Given the description of an element on the screen output the (x, y) to click on. 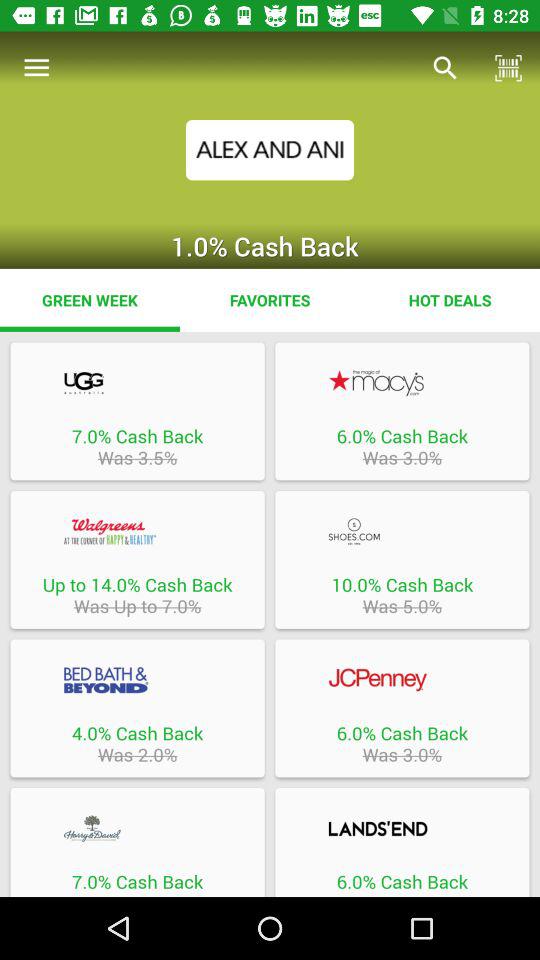
scroll until green week icon (90, 299)
